Given the description of an element on the screen output the (x, y) to click on. 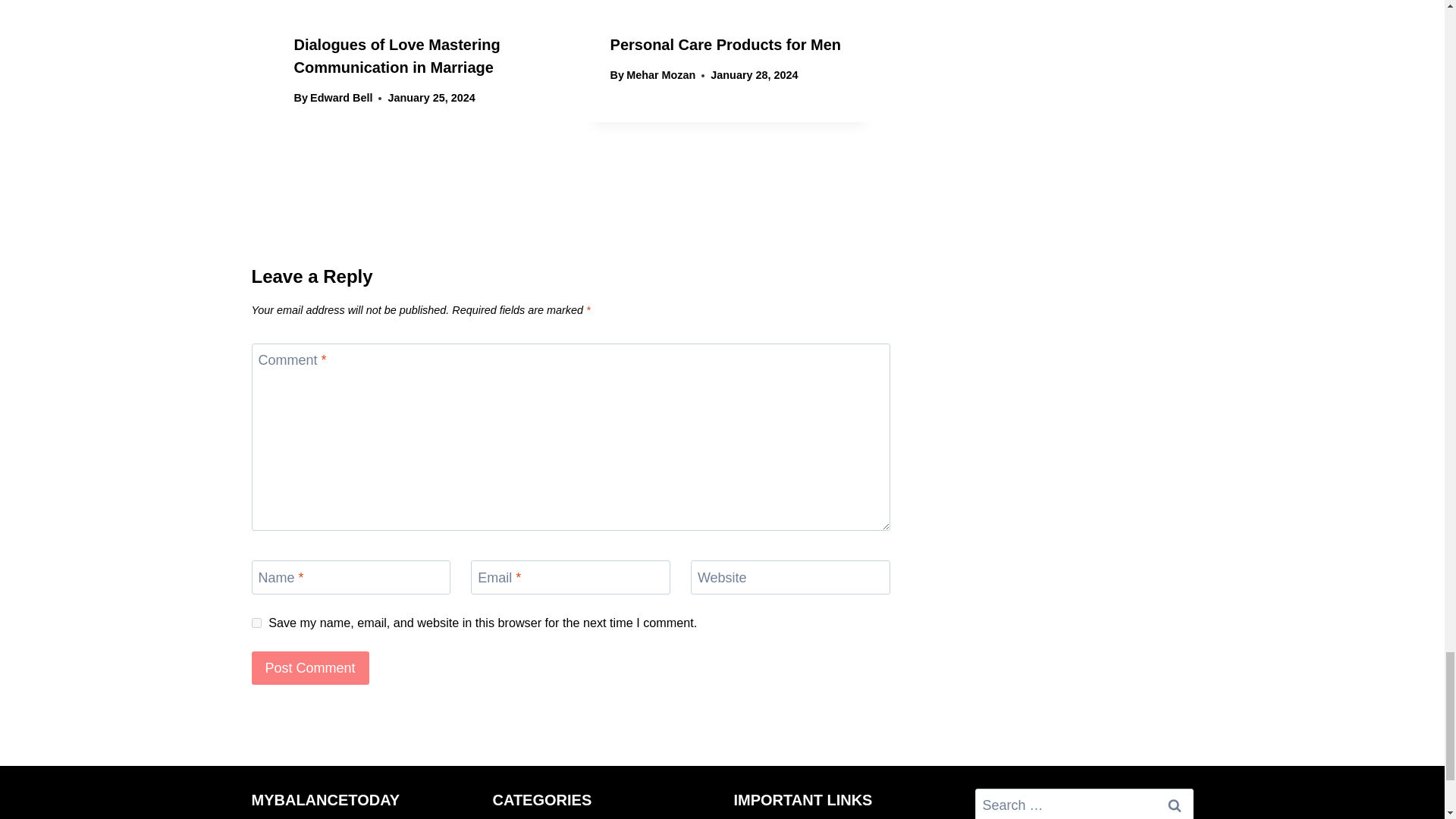
Search (1174, 803)
Post Comment (310, 667)
Search (1174, 803)
yes (256, 623)
